Given the description of an element on the screen output the (x, y) to click on. 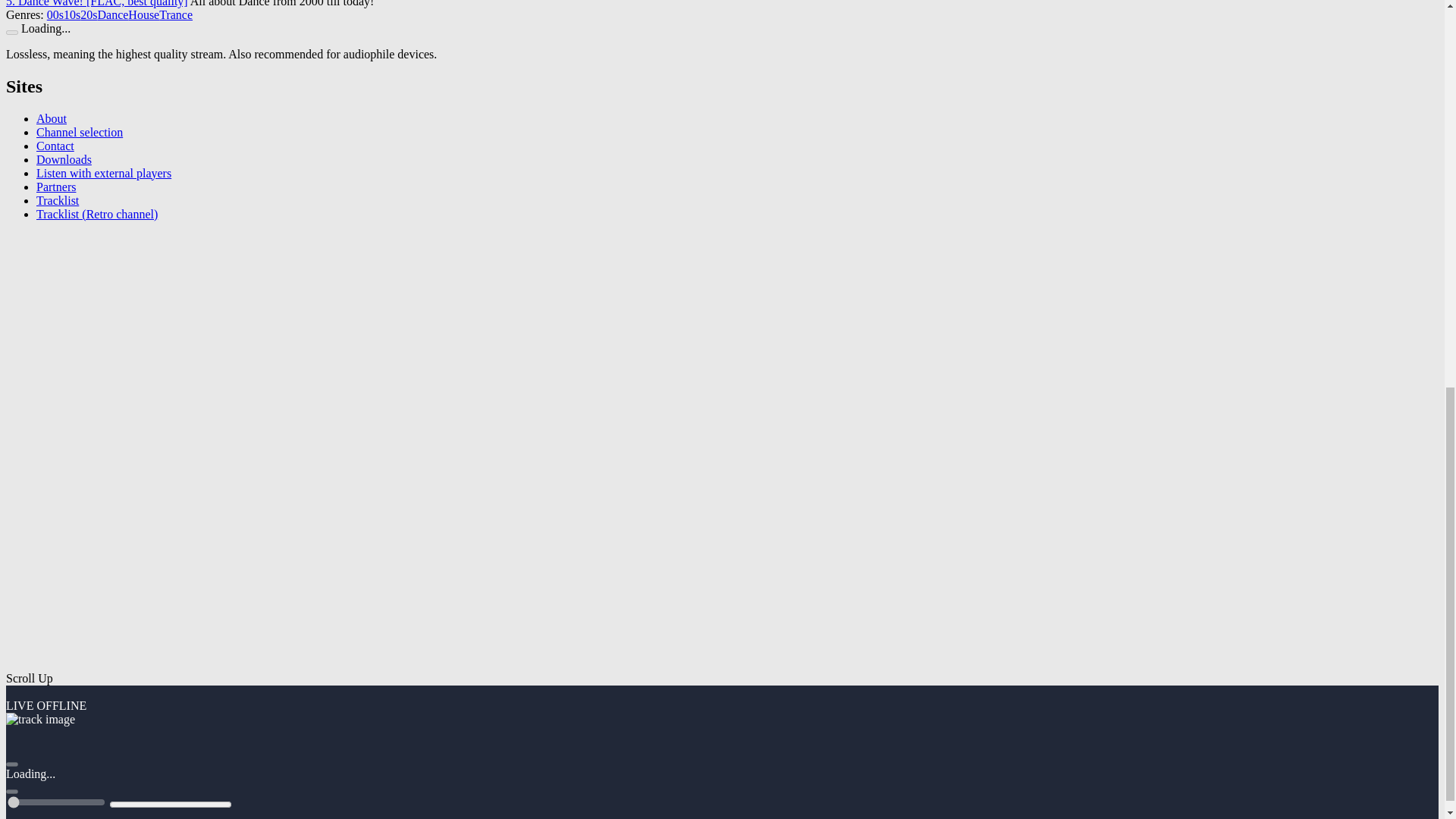
0 (55, 802)
Play (11, 764)
Play (11, 32)
